Given the description of an element on the screen output the (x, y) to click on. 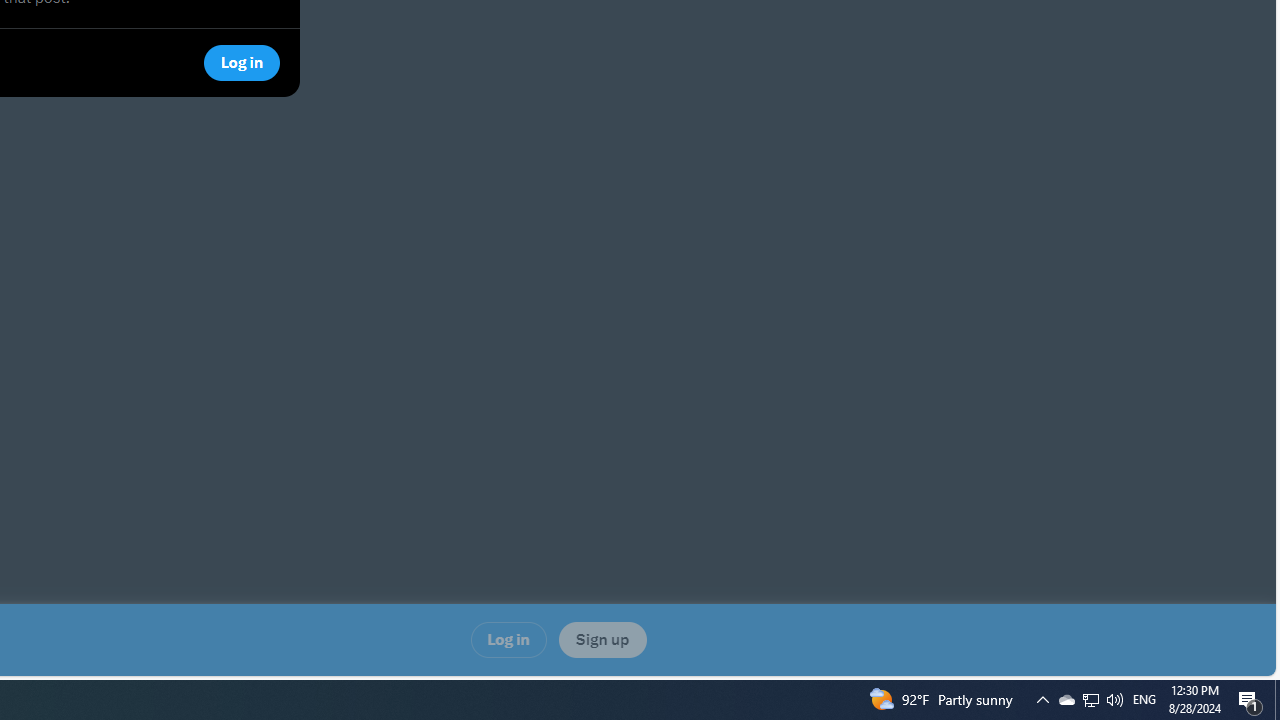
Log in (507, 640)
Sign up (602, 640)
